Given the description of an element on the screen output the (x, y) to click on. 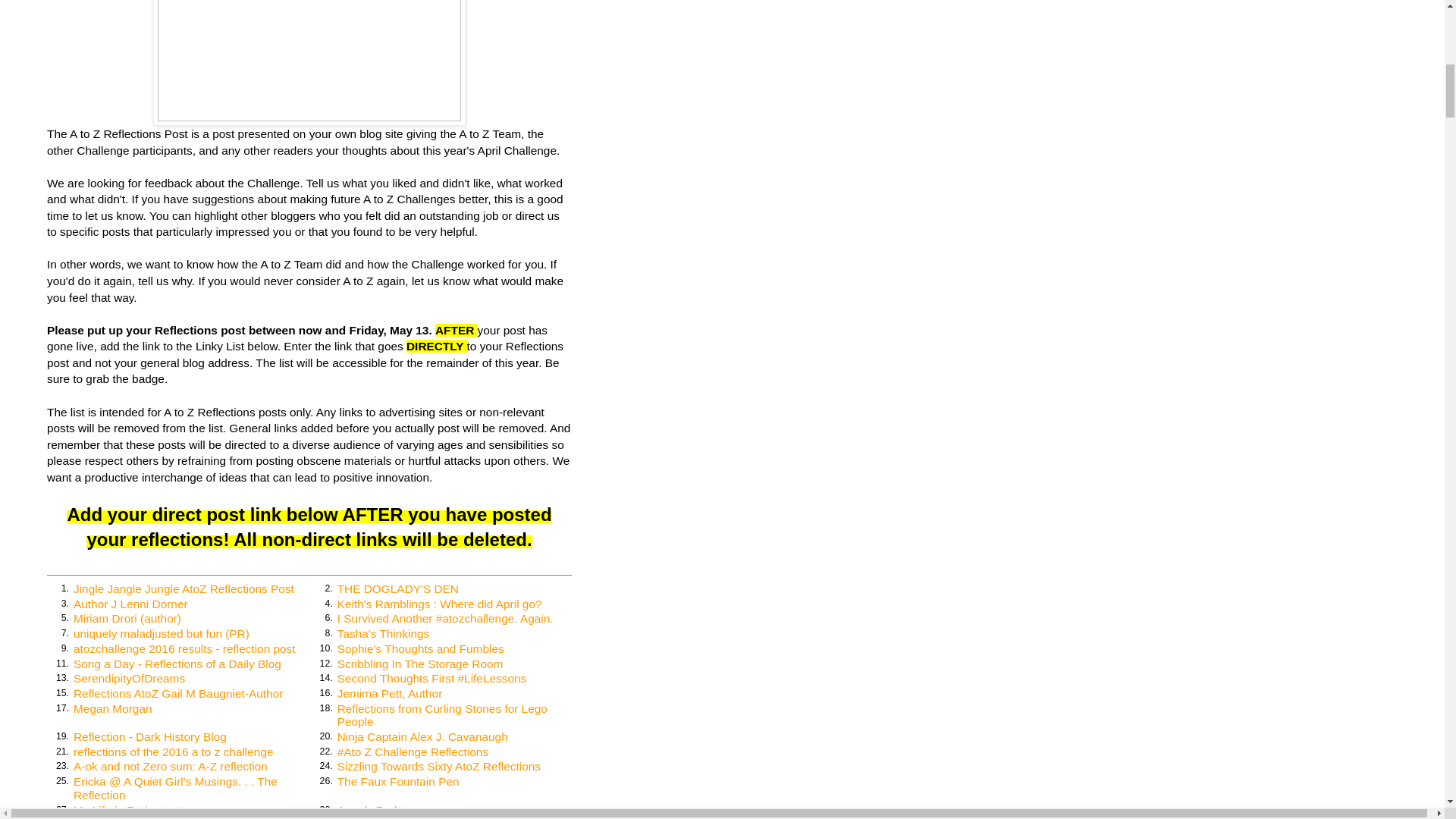
The Faux Fountain Pen (398, 780)
A-ok and not Zero sum: A-Z reflection (170, 766)
Sophie's Thoughts and Fumbles (420, 648)
Reflections AtoZ Gail M Baugniet-Author (178, 693)
SerendipityOfDreams (129, 677)
Reflection - Dark History Blog (150, 736)
Tasha's Thinkings (383, 633)
Ninja Captain Alex J. Cavanaugh (422, 736)
Jemima Pett, Author (389, 693)
Scribbling In The Storage Room (420, 663)
Keith's Ramblings : Where did April go? (439, 603)
Angels Bark (368, 809)
atozchallenge 2016 results - reflection post (184, 648)
reflections of the 2016 a to z challenge (173, 751)
